Given the description of an element on the screen output the (x, y) to click on. 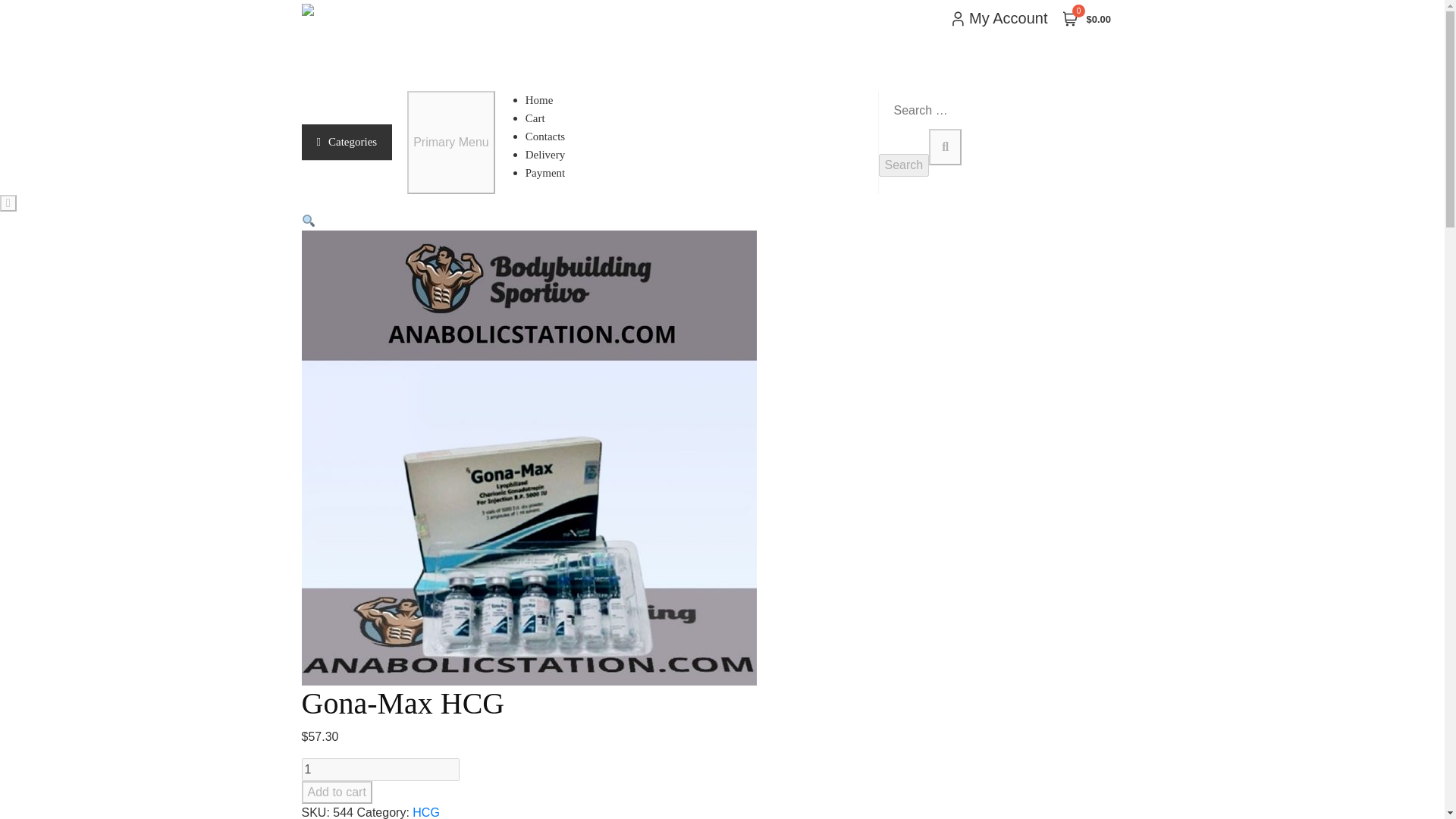
My Account (997, 17)
Categories (347, 142)
Home (548, 100)
Search (902, 164)
Delivery (554, 154)
Payment (554, 173)
Contacts (554, 136)
Cart (544, 118)
HelpCrunch (114, 777)
Search (902, 164)
1 (380, 769)
Search (902, 164)
